Given the description of an element on the screen output the (x, y) to click on. 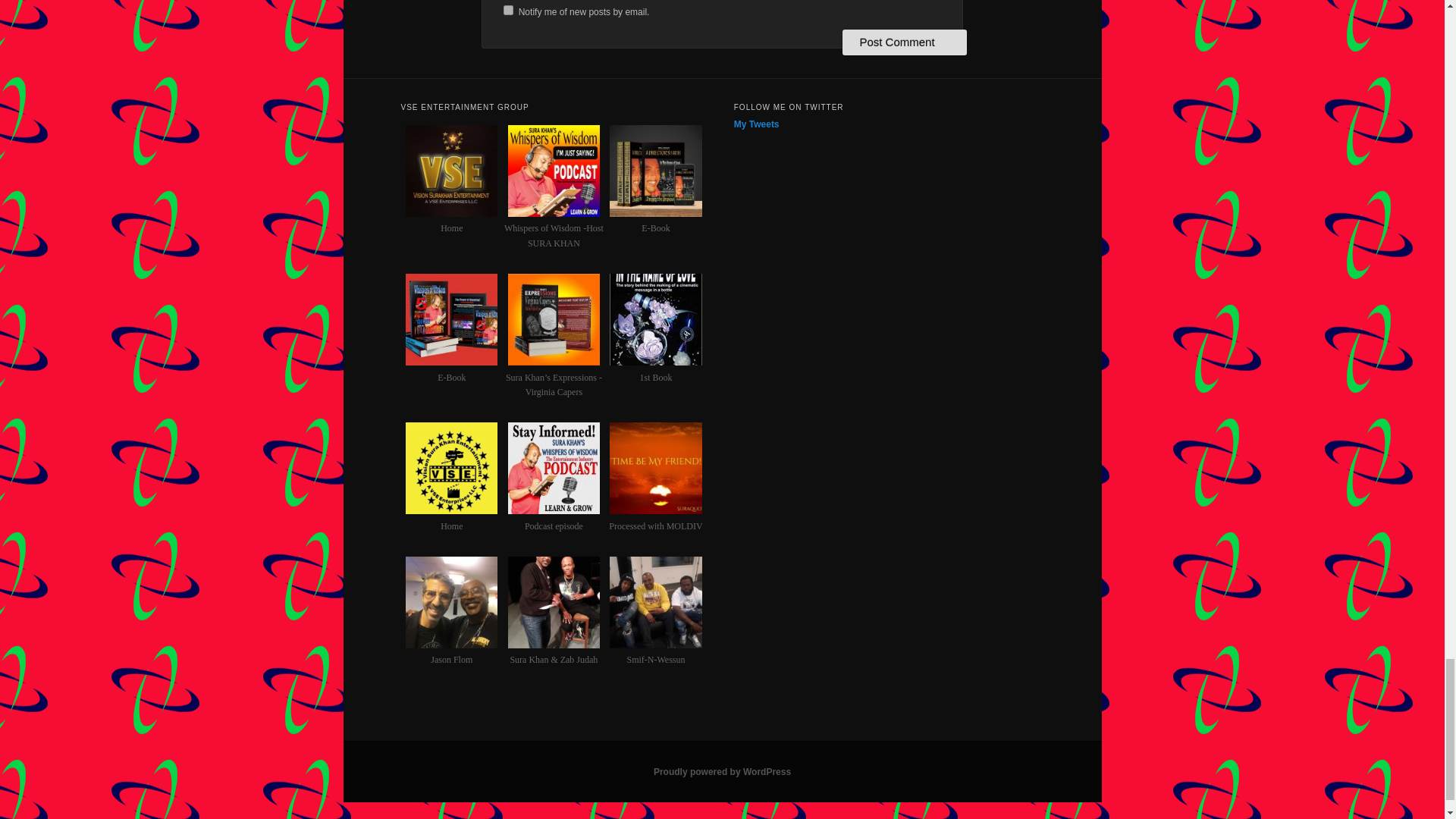
Semantic Personal Publishing Platform (721, 771)
subscribe (508, 9)
Post Comment (904, 42)
